Given the description of an element on the screen output the (x, y) to click on. 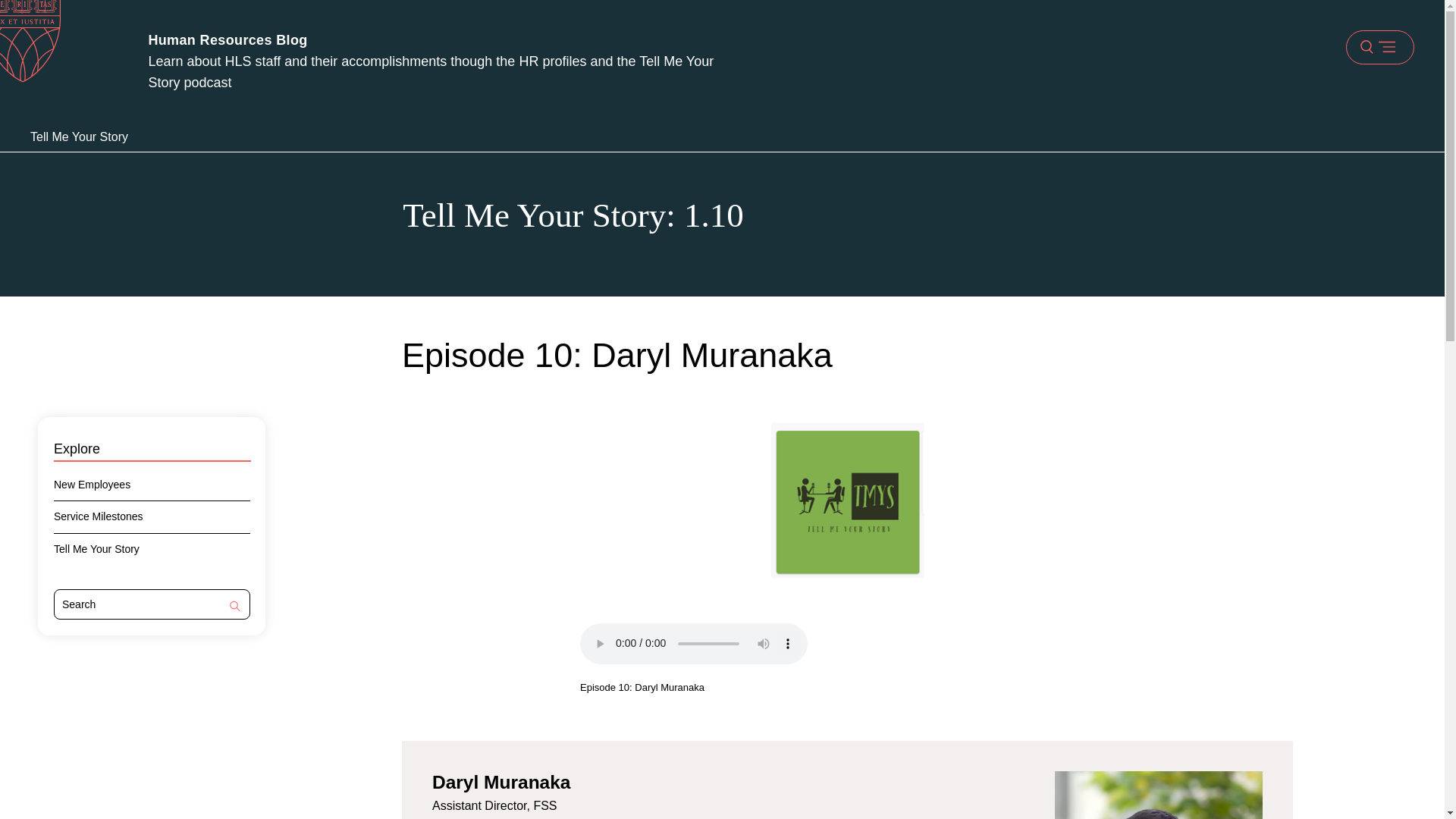
Human Resources Blog (227, 40)
Open menu (1379, 47)
